Given the description of an element on the screen output the (x, y) to click on. 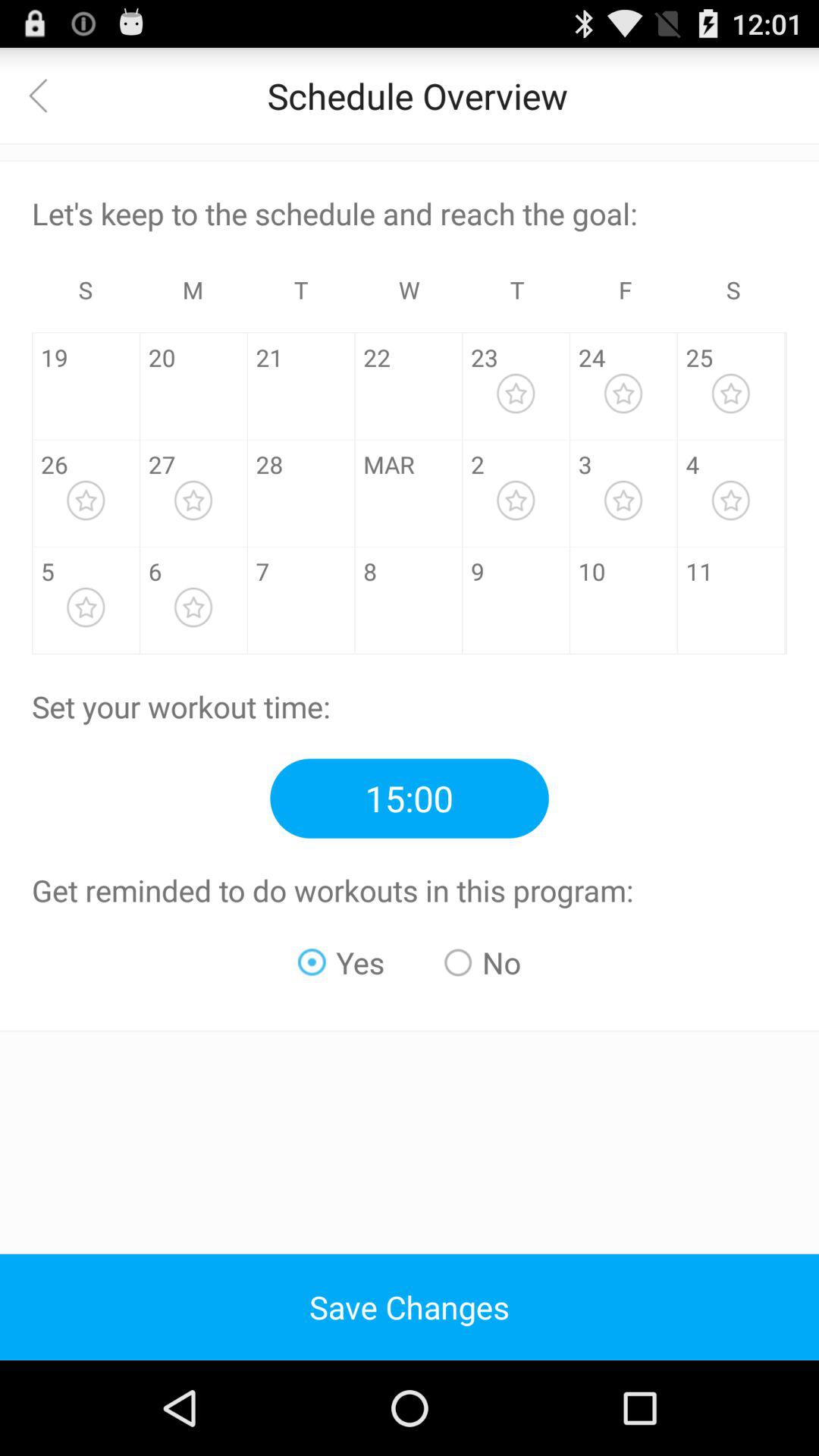
open item next to the schedule overview item (47, 95)
